Given the description of an element on the screen output the (x, y) to click on. 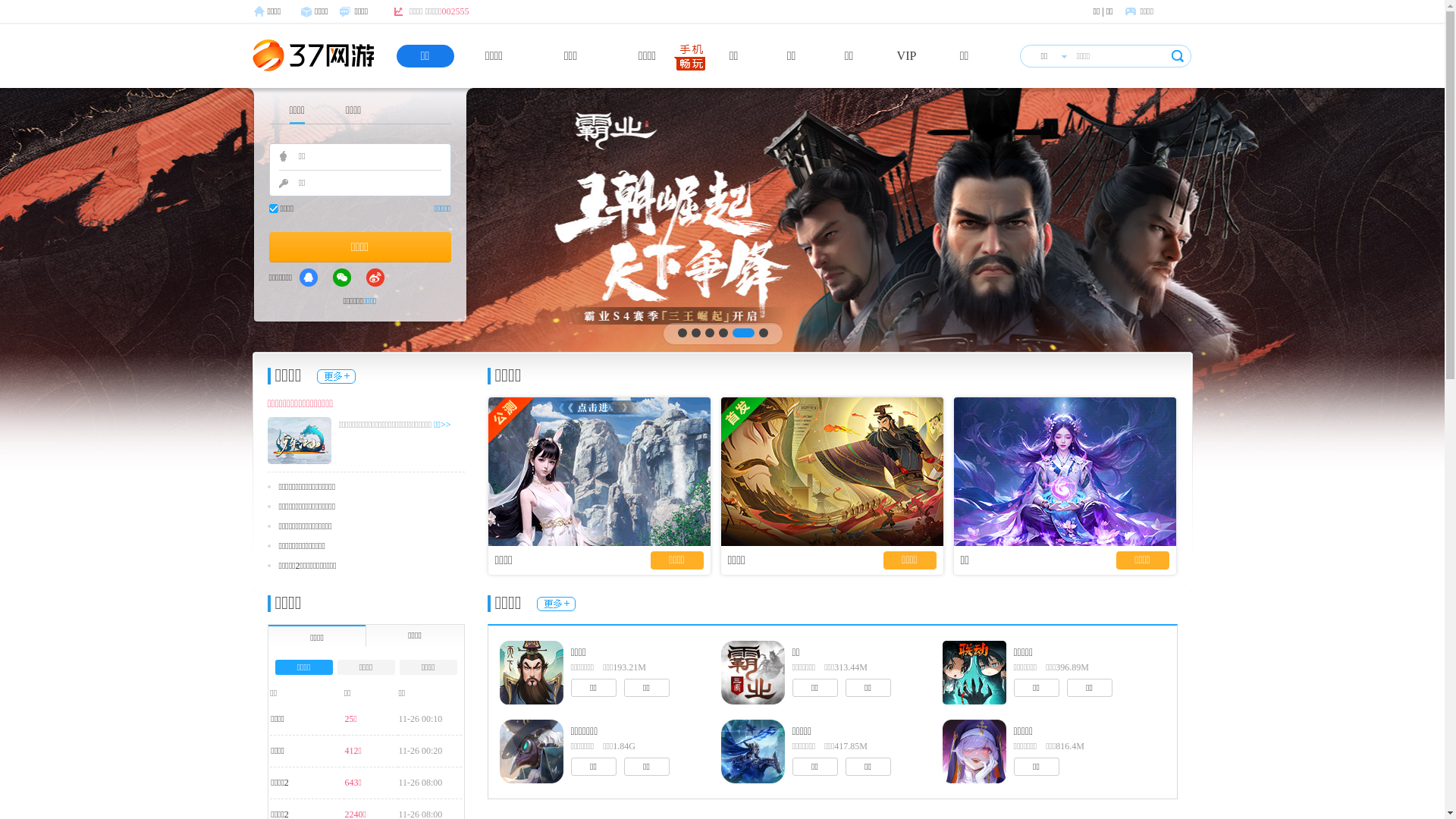
VIP Element type: text (906, 55)
QQ Element type: hover (308, 277)
